Given the description of an element on the screen output the (x, y) to click on. 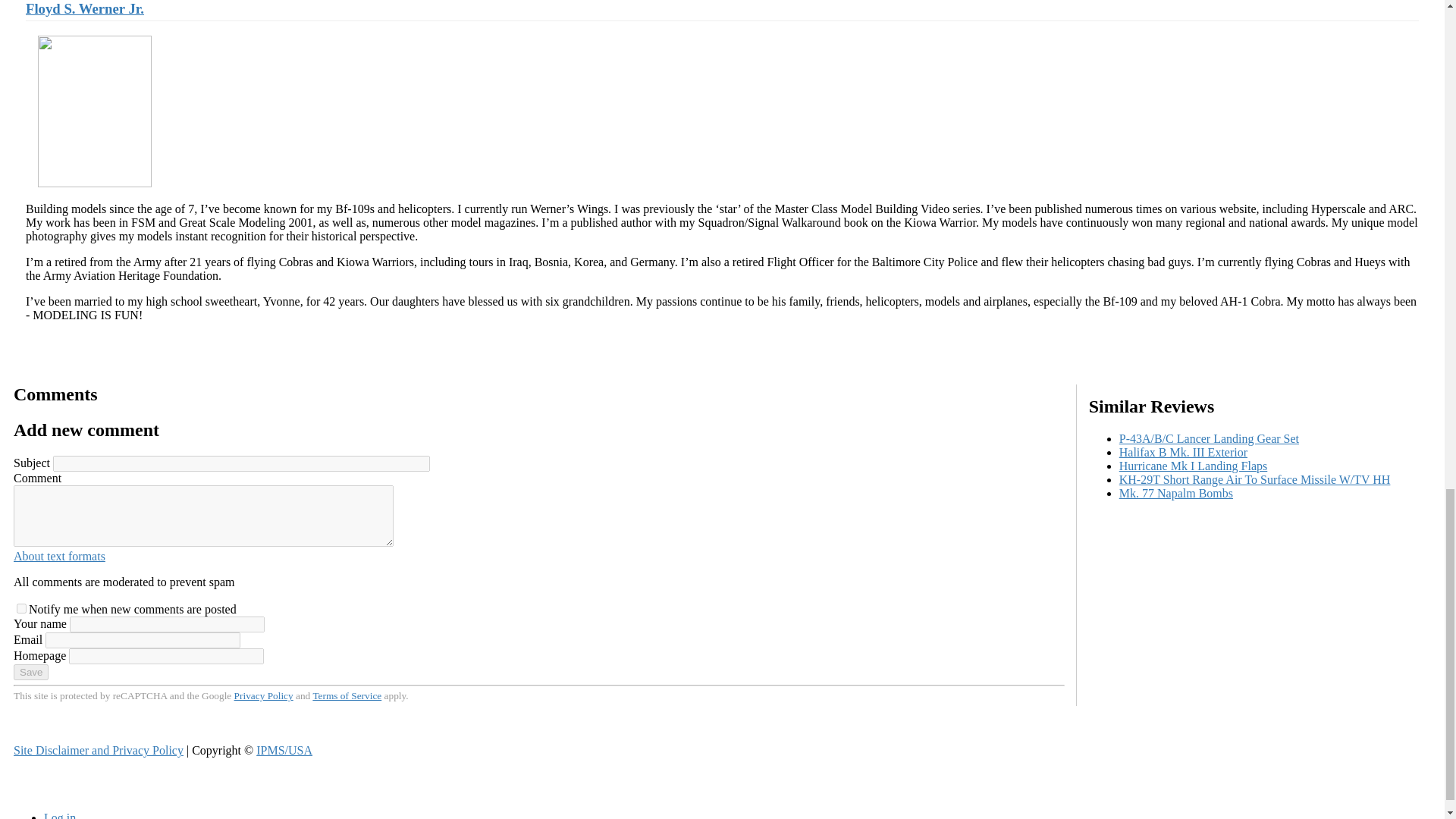
1 (21, 608)
Save (30, 672)
Opens in new window (58, 555)
About text formats (58, 555)
Privacy Policy (264, 695)
Floyd S. Werner Jr. (85, 8)
